Given the description of an element on the screen output the (x, y) to click on. 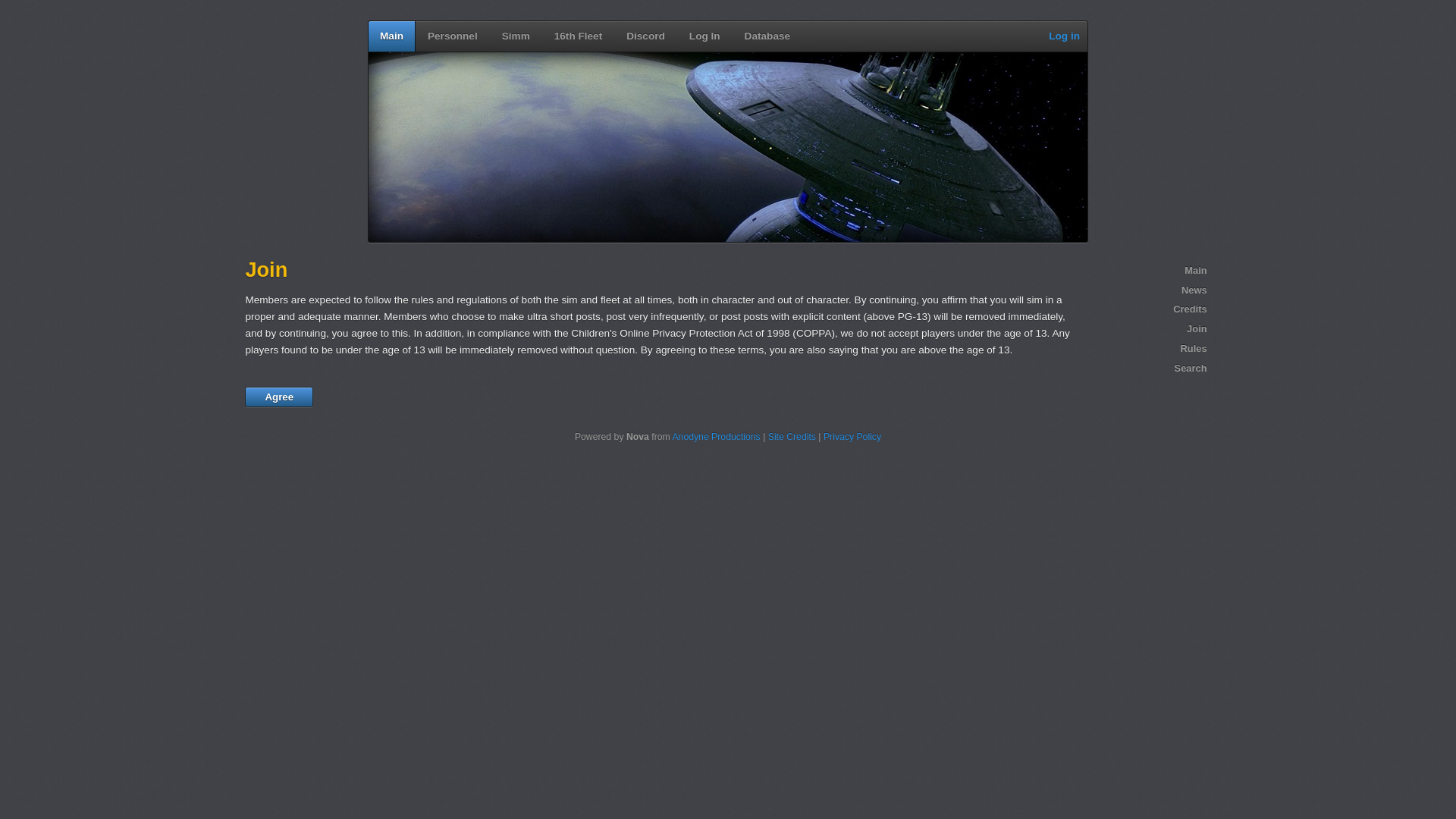
Credits Element type: text (1150, 309)
Agree Element type: text (278, 396)
News Element type: text (1150, 290)
Personnel Element type: text (452, 36)
Join Element type: text (1150, 328)
Site Credits Element type: text (791, 436)
Main Element type: text (1150, 270)
Main Element type: text (391, 36)
Discord Element type: text (645, 36)
Search Element type: text (1150, 368)
Log In Element type: text (704, 36)
16th Fleet Element type: text (578, 36)
Simm Element type: text (515, 36)
Rules Element type: text (1150, 348)
Anodyne Productions Element type: text (715, 436)
Database Element type: text (767, 36)
Privacy Policy Element type: text (852, 436)
Log in Element type: text (1063, 35)
